Given the description of an element on the screen output the (x, y) to click on. 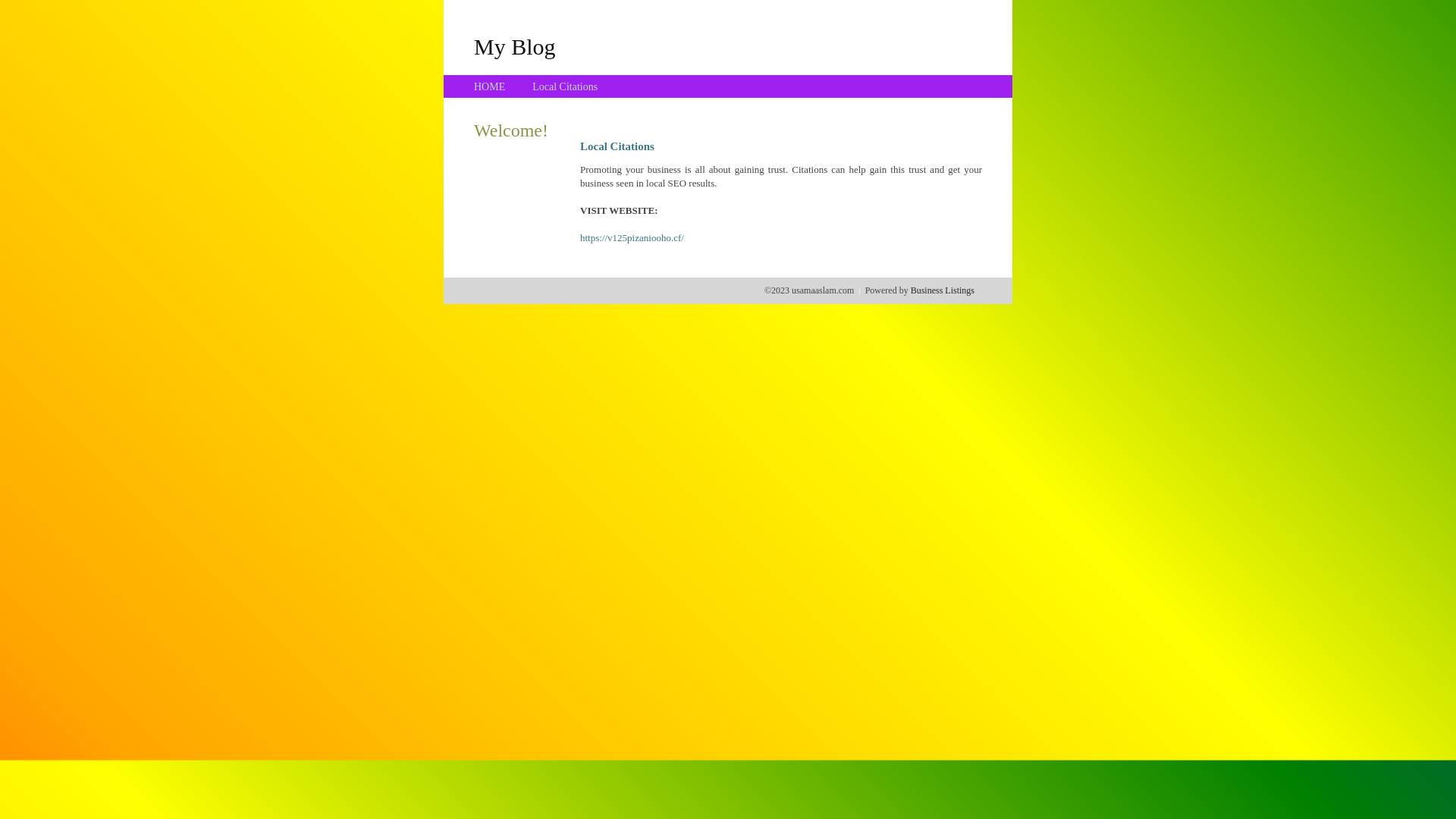
My Blog Element type: text (514, 46)
Local Citations Element type: text (564, 86)
Business Listings Element type: text (942, 290)
https://v125pizaniooho.cf/ Element type: text (632, 237)
HOME Element type: text (489, 86)
